Given the description of an element on the screen output the (x, y) to click on. 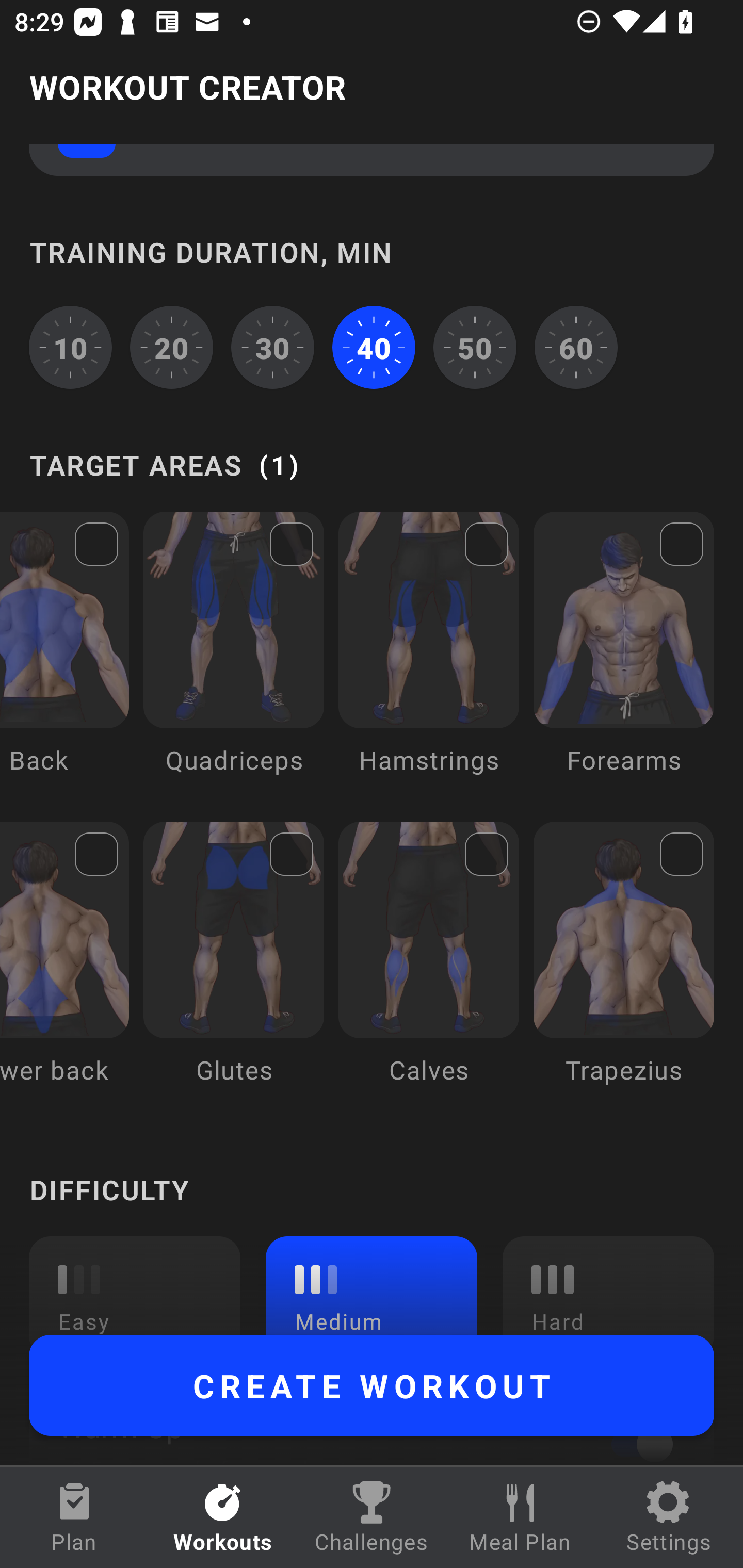
10 (70, 347)
20 (171, 347)
30 (272, 347)
40 (373, 347)
50 (474, 347)
60 (575, 347)
Back (64, 656)
Quadriceps (233, 656)
Hamstrings (428, 656)
Forearms (623, 656)
Lower back (64, 967)
Glutes (233, 967)
Calves (428, 967)
Trapezius (623, 967)
Easy (134, 1284)
Hard (608, 1284)
CREATE WORKOUT (371, 1385)
 Plan  (74, 1517)
 Challenges  (371, 1517)
 Meal Plan  (519, 1517)
 Settings  (668, 1517)
